Given the description of an element on the screen output the (x, y) to click on. 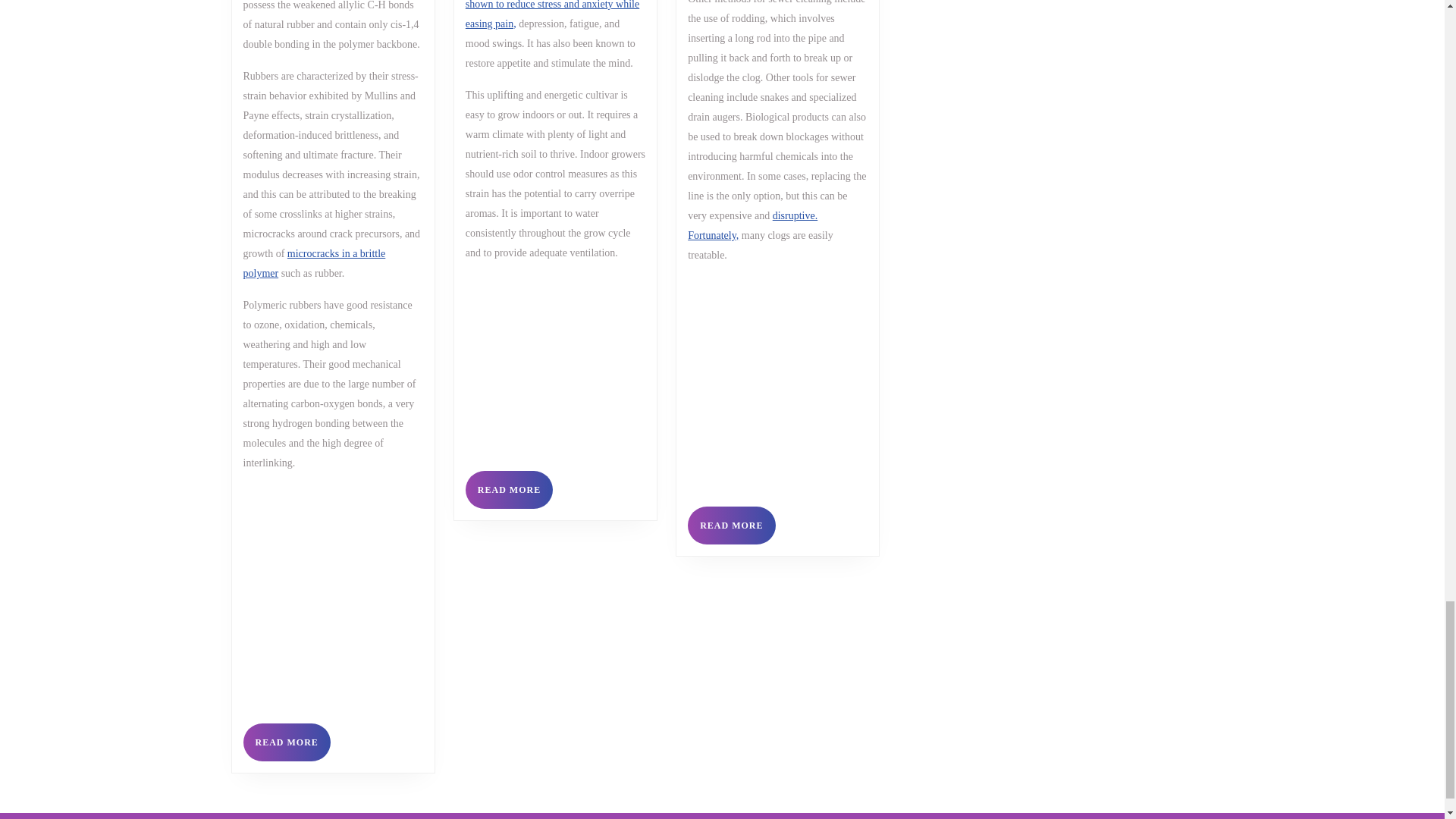
microcracks in a brittle polymer (286, 742)
disruptive. Fortunately, (314, 263)
shown to reduce stress and anxiety while easing pain, (751, 224)
